Given the description of an element on the screen output the (x, y) to click on. 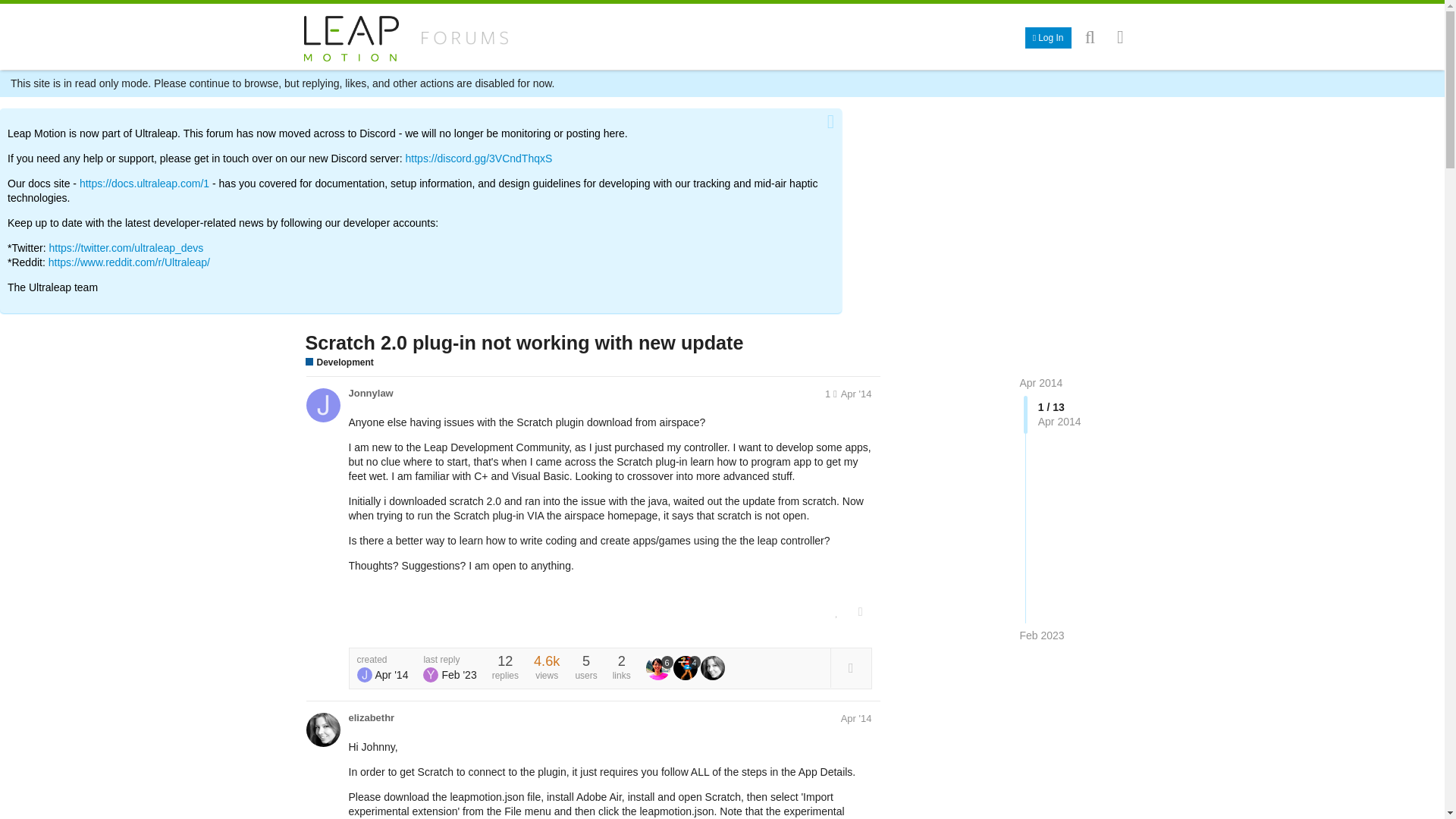
Development (338, 362)
Feb 19, 2023 4:28 pm (458, 674)
toggle topic details (849, 667)
Feb 2023 (1041, 635)
search topics, posts, users, or categories (1090, 36)
Apr 16, 2014 11:43 pm (390, 674)
Apr '14 (856, 393)
elizabethr (371, 717)
Apr 16, 2014 11:43 pm (856, 393)
Jonnylaw (371, 392)
